Given the description of an element on the screen output the (x, y) to click on. 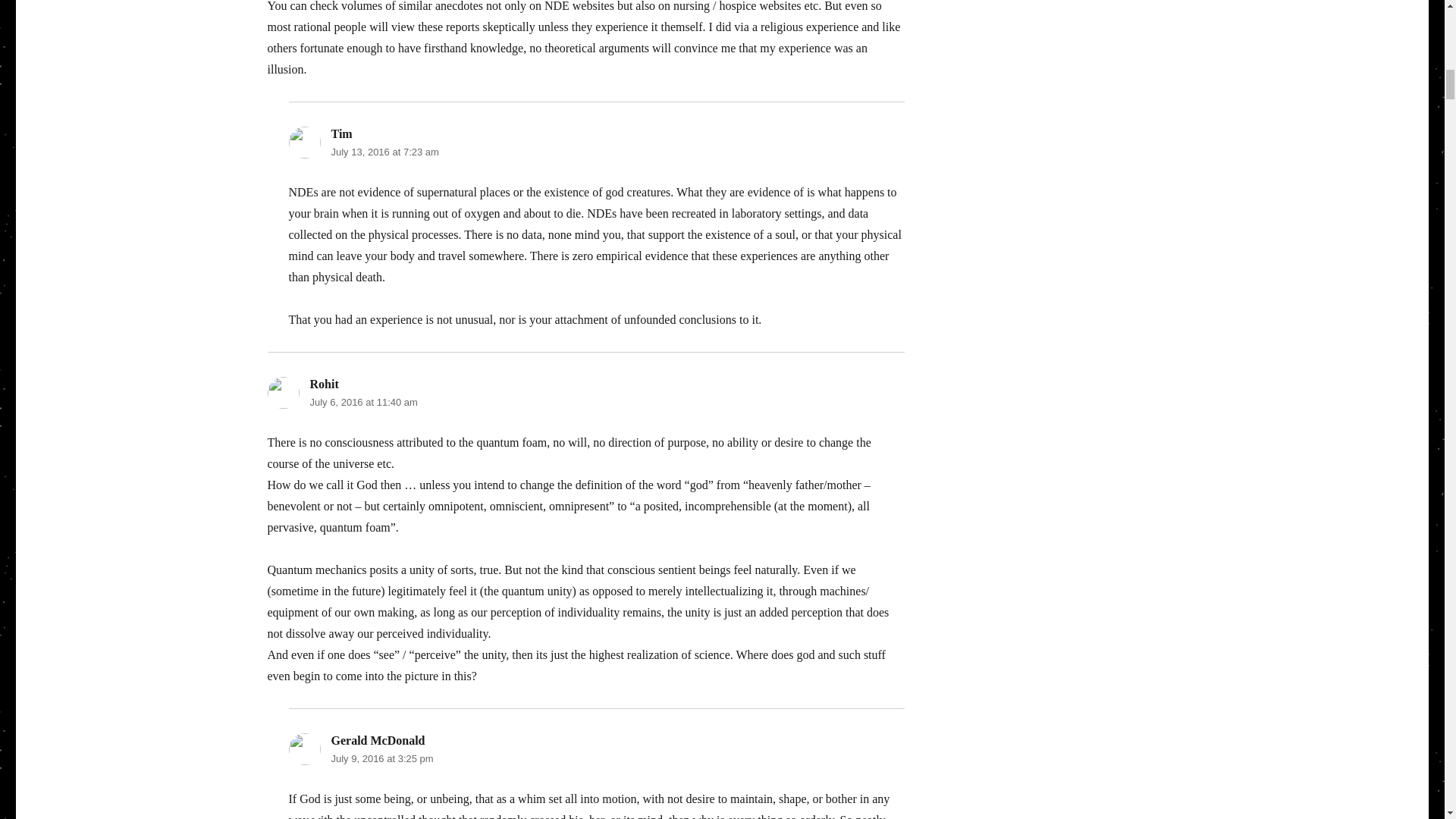
July 13, 2016 at 7:23 am (384, 152)
July 9, 2016 at 3:25 pm (381, 758)
July 6, 2016 at 11:40 am (362, 401)
